Given the description of an element on the screen output the (x, y) to click on. 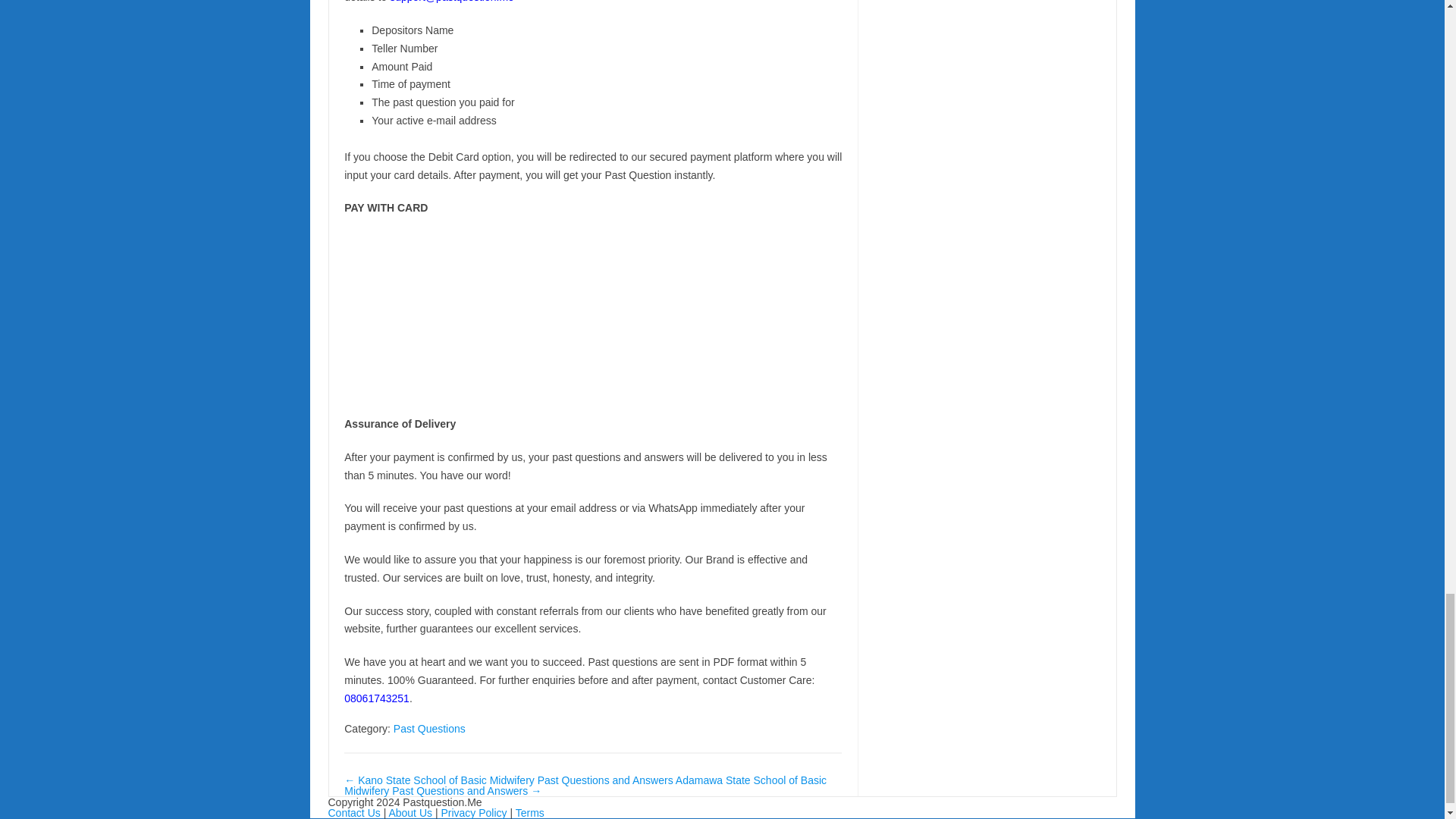
Past Questions (429, 728)
